Given the description of an element on the screen output the (x, y) to click on. 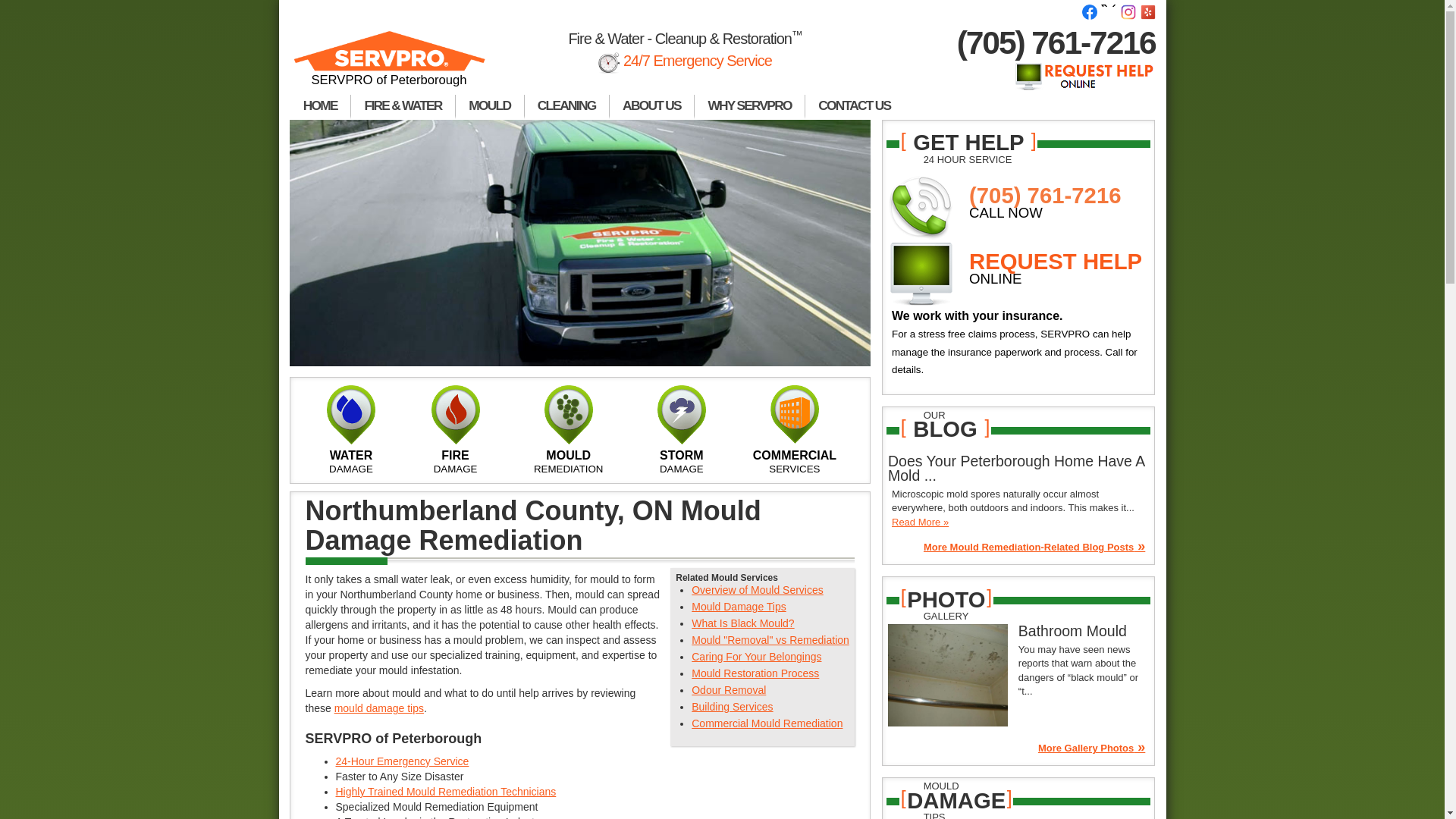
ABOUT US (652, 106)
MOULD (489, 106)
HOME (319, 106)
SERVPRO of Peterborough (389, 64)
CLEANING (567, 106)
